Given the description of an element on the screen output the (x, y) to click on. 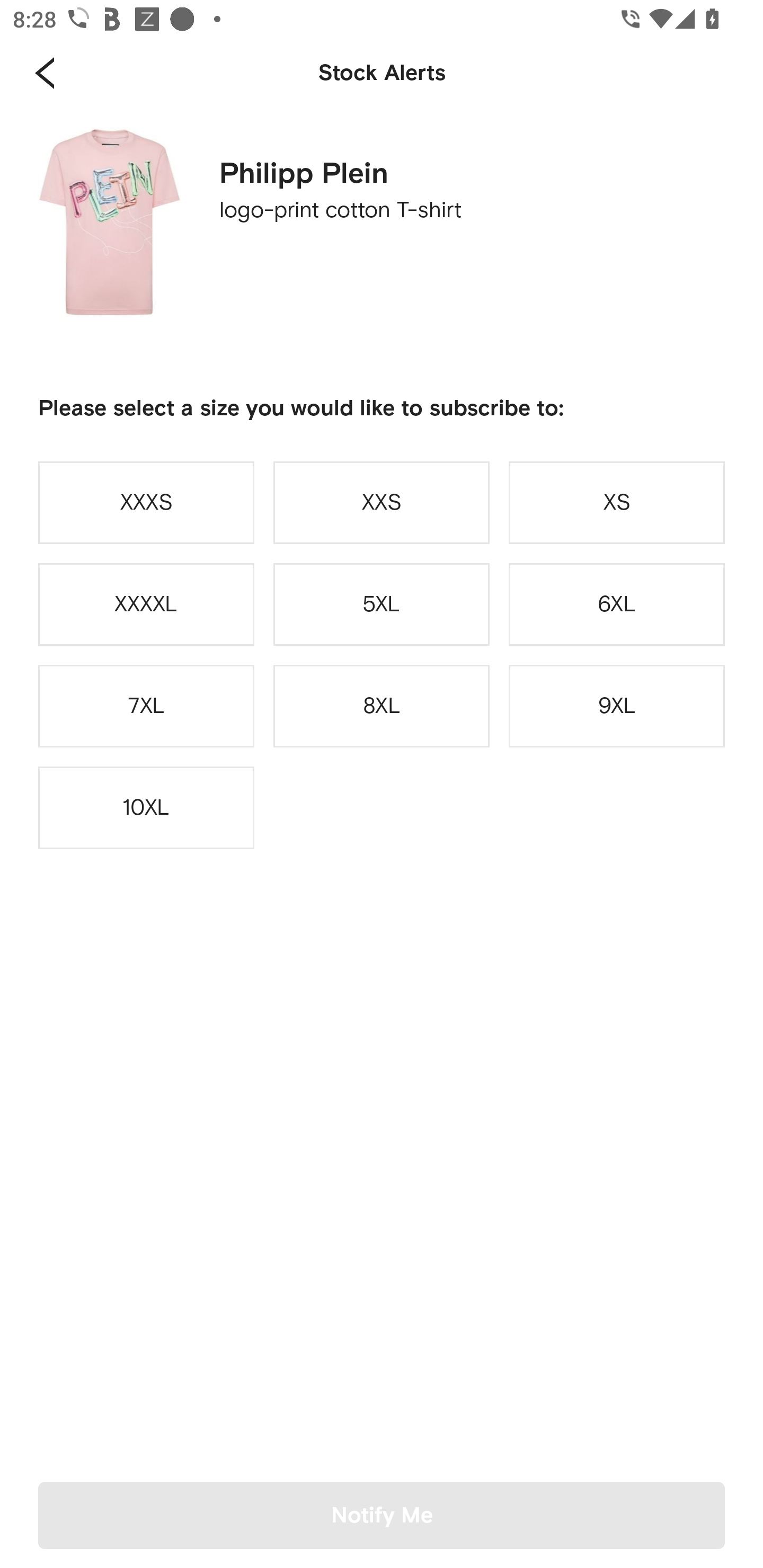
XXXS (146, 502)
XXS (381, 502)
XS (616, 502)
XXXXL (146, 604)
5XL (381, 604)
6XL (616, 604)
7XL (146, 705)
8XL (381, 705)
9XL (616, 705)
10XL (146, 807)
Notify Me (381, 1515)
